Given the description of an element on the screen output the (x, y) to click on. 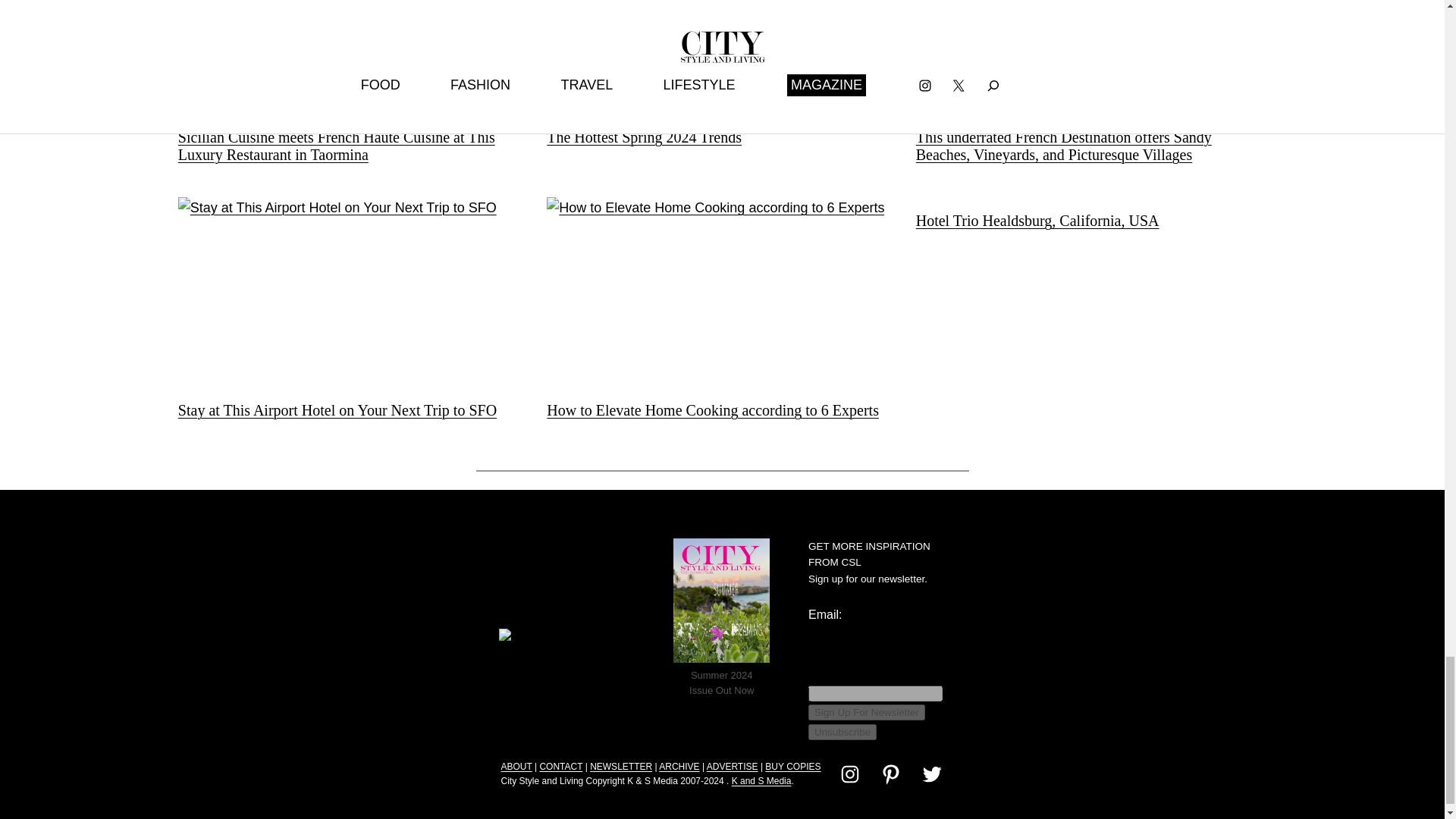
Sign Up For Newsletter (866, 712)
Unsubscribe (842, 731)
